Given the description of an element on the screen output the (x, y) to click on. 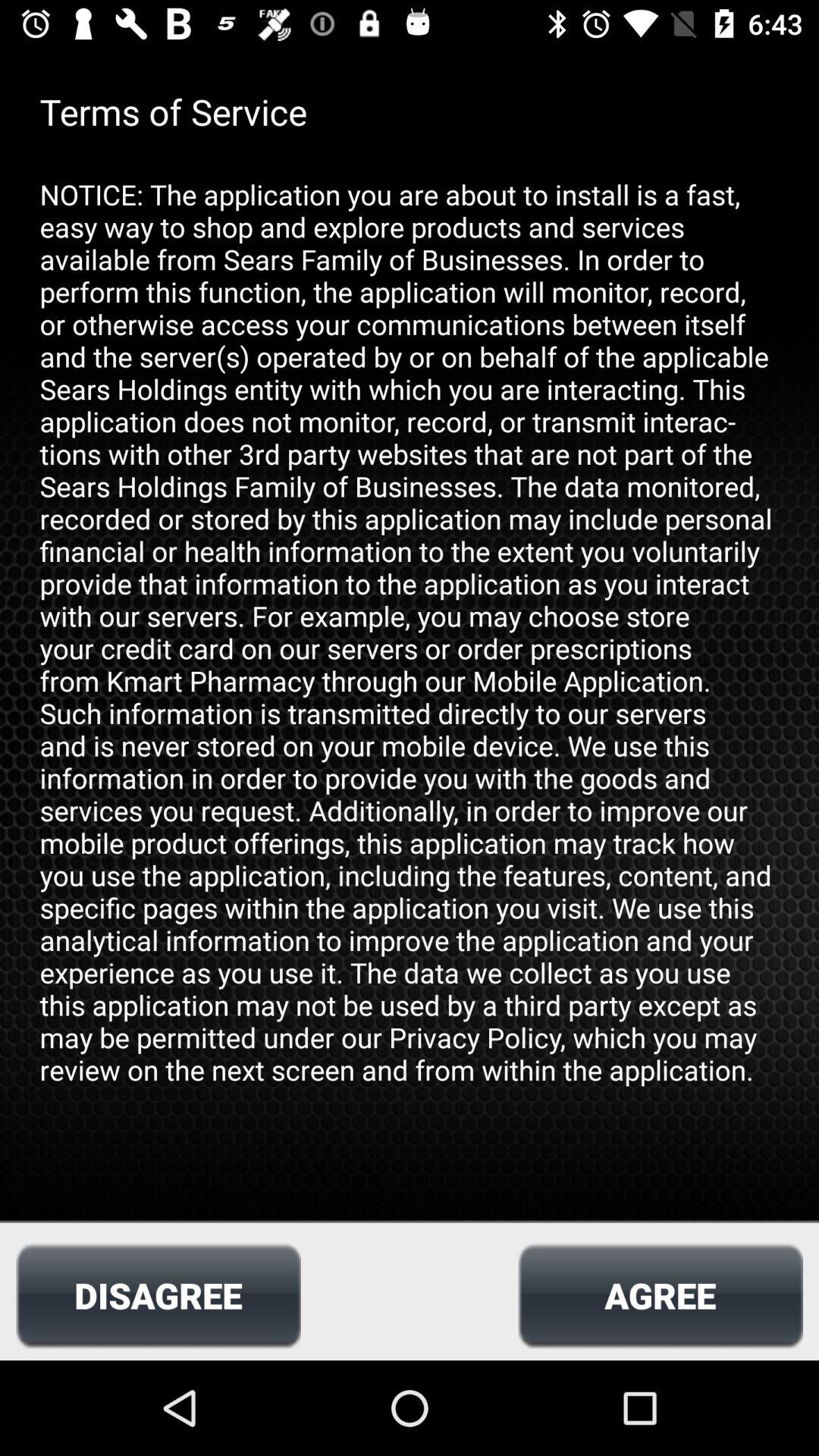
launch the agree at the bottom right corner (660, 1295)
